Given the description of an element on the screen output the (x, y) to click on. 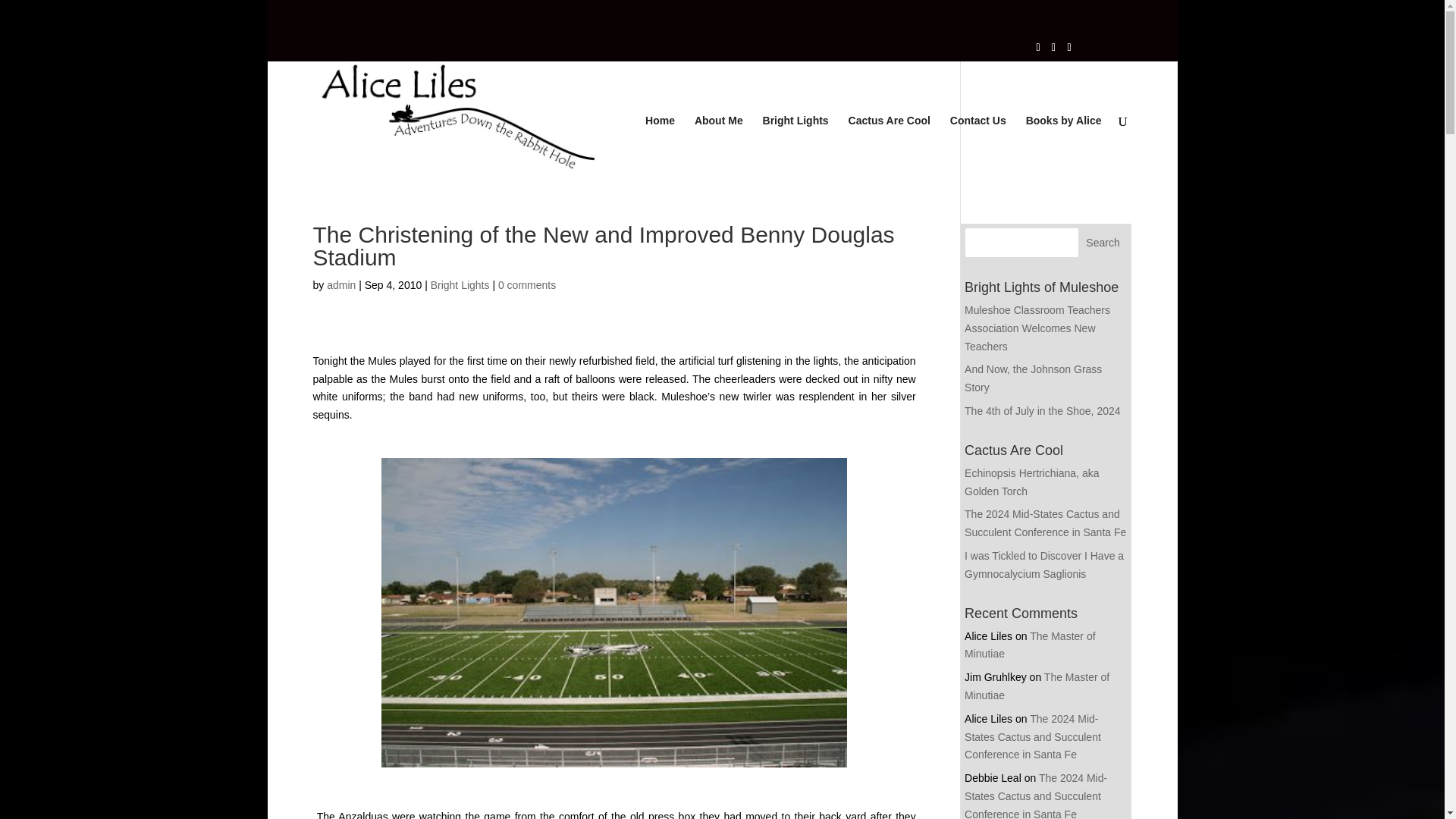
Permanent link to Echinopsis Hertrichiana, aka Golden Torch (1031, 481)
Posts by admin (340, 285)
The Master of Minutiae (1036, 685)
Books by Alice (1064, 147)
Permanent link to And Now, the Johnson Grass Story (1032, 378)
Search (1103, 242)
And Now, the Johnson Grass Story (1032, 378)
The 4th of July in the Shoe, 2024 (1041, 410)
